Given the description of an element on the screen output the (x, y) to click on. 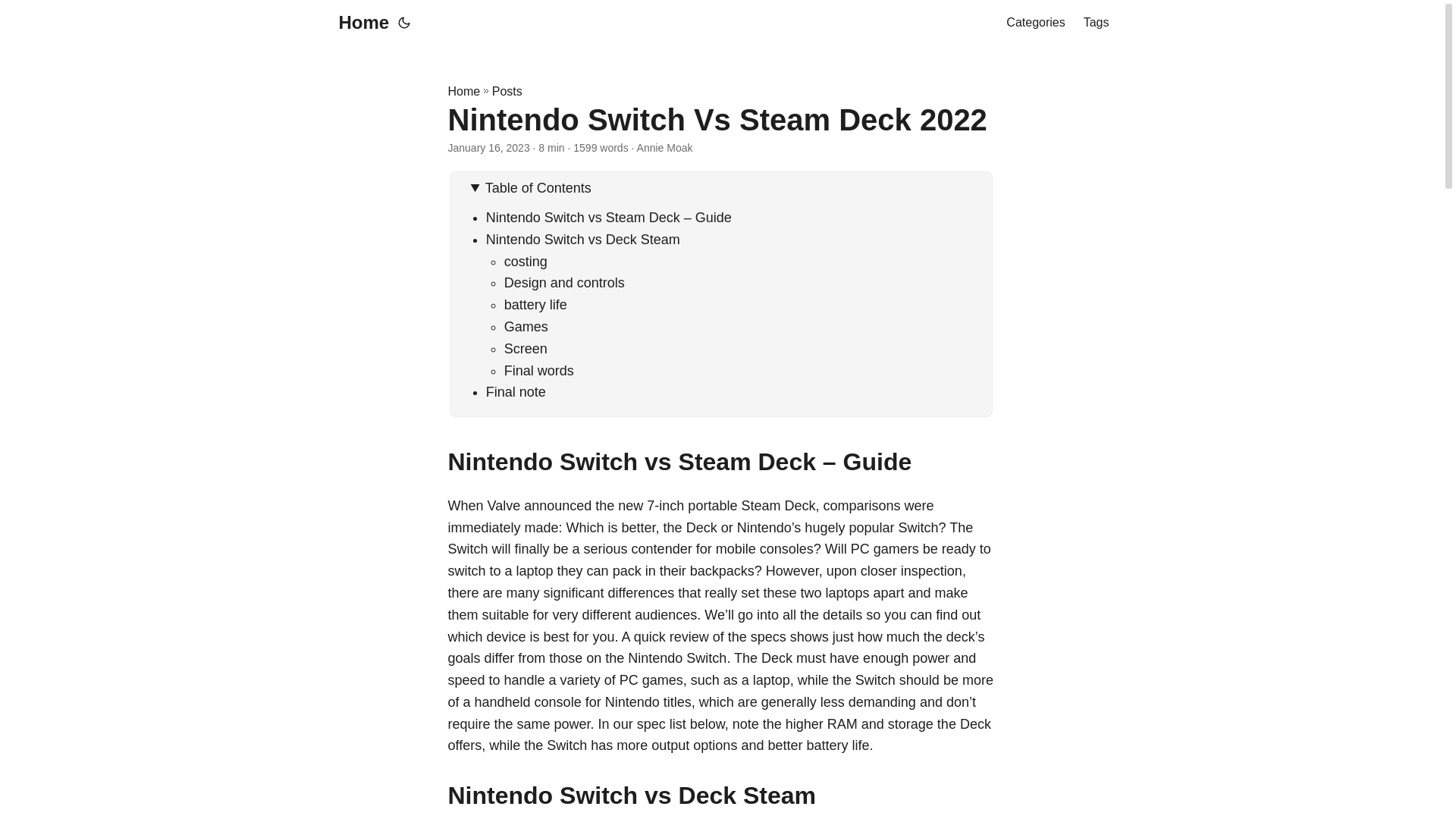
Final words (538, 370)
costing (525, 261)
Categories (1035, 22)
Posts (507, 91)
Design and controls (563, 282)
Screen (525, 348)
battery life (535, 304)
Final note (516, 391)
Home (463, 91)
Categories (1035, 22)
